Given the description of an element on the screen output the (x, y) to click on. 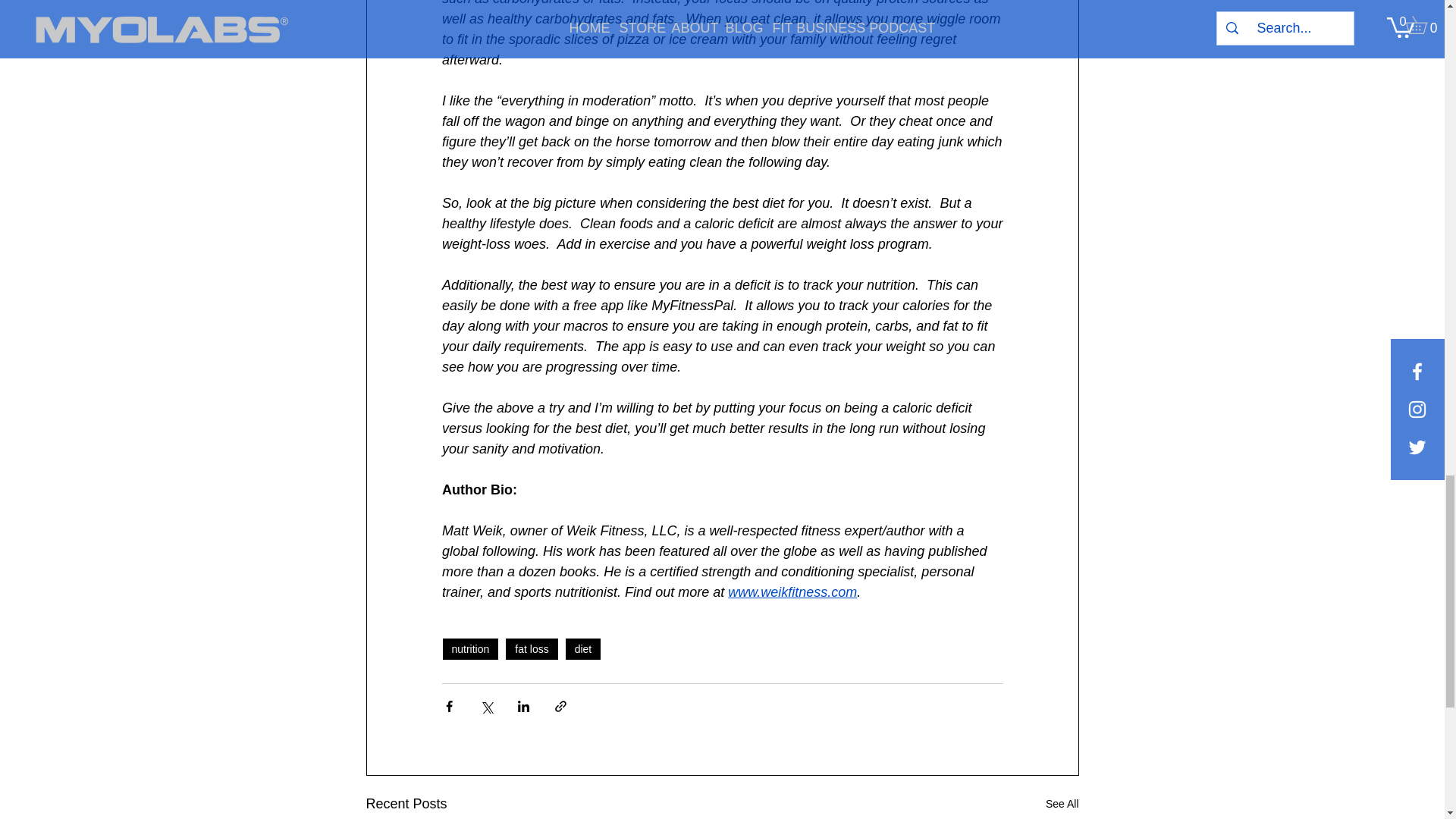
See All (1061, 803)
www.weikfitness.com (792, 591)
nutrition (470, 649)
diet (583, 649)
fat loss (531, 649)
